Given the description of an element on the screen output the (x, y) to click on. 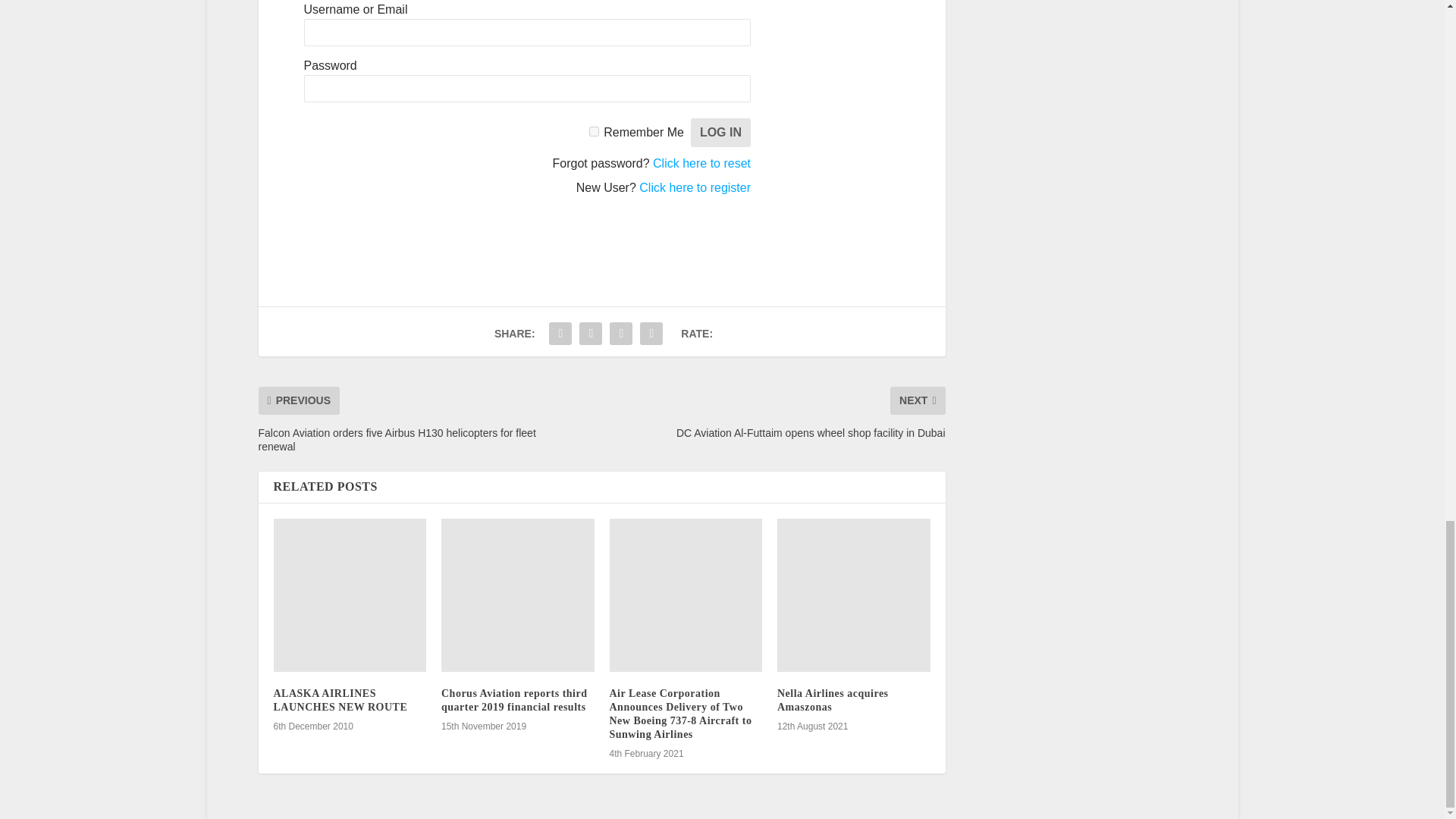
forever (593, 131)
Log In (720, 132)
ALASKA AIRLINES LAUNCHES NEW ROUTE (349, 594)
Nella Airlines acquires Amaszonas (853, 594)
Chorus Aviation reports third quarter 2019 financial results (517, 594)
